Given the description of an element on the screen output the (x, y) to click on. 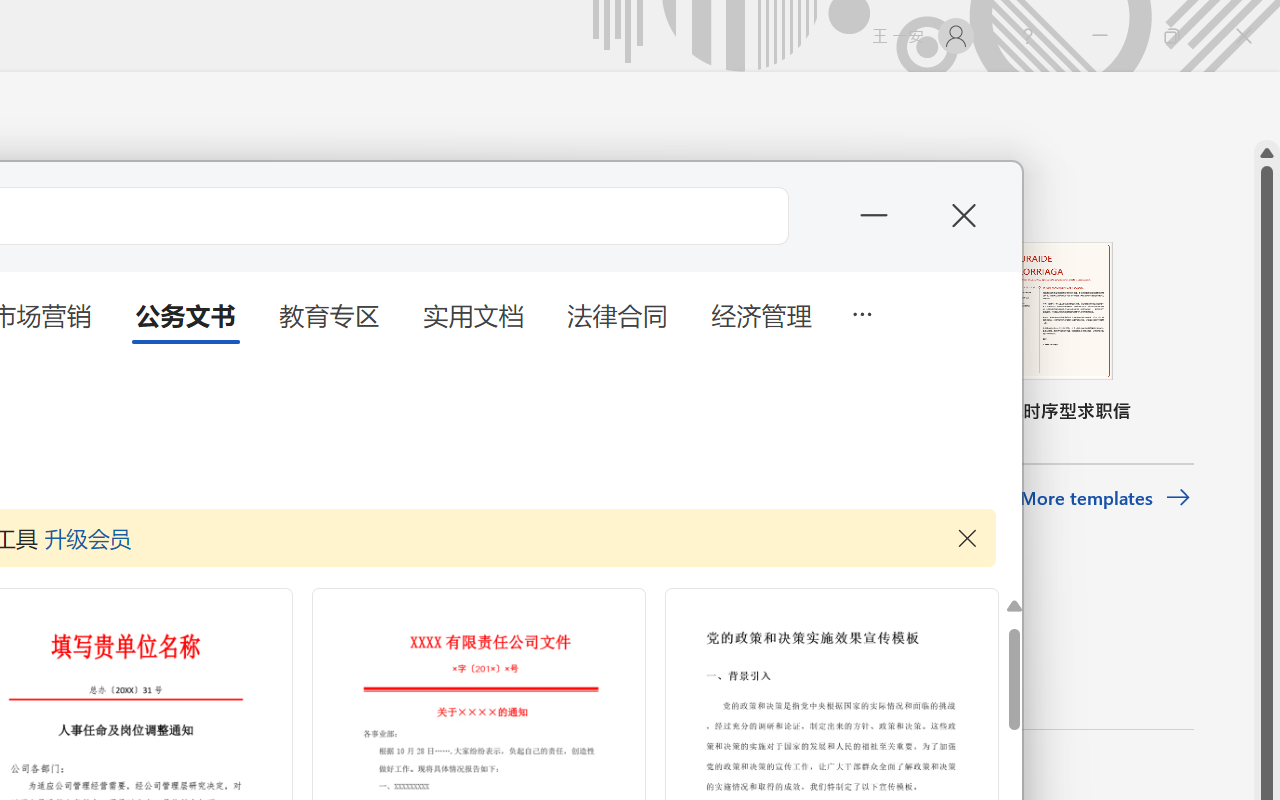
Close (1244, 36)
